Given the description of an element on the screen output the (x, y) to click on. 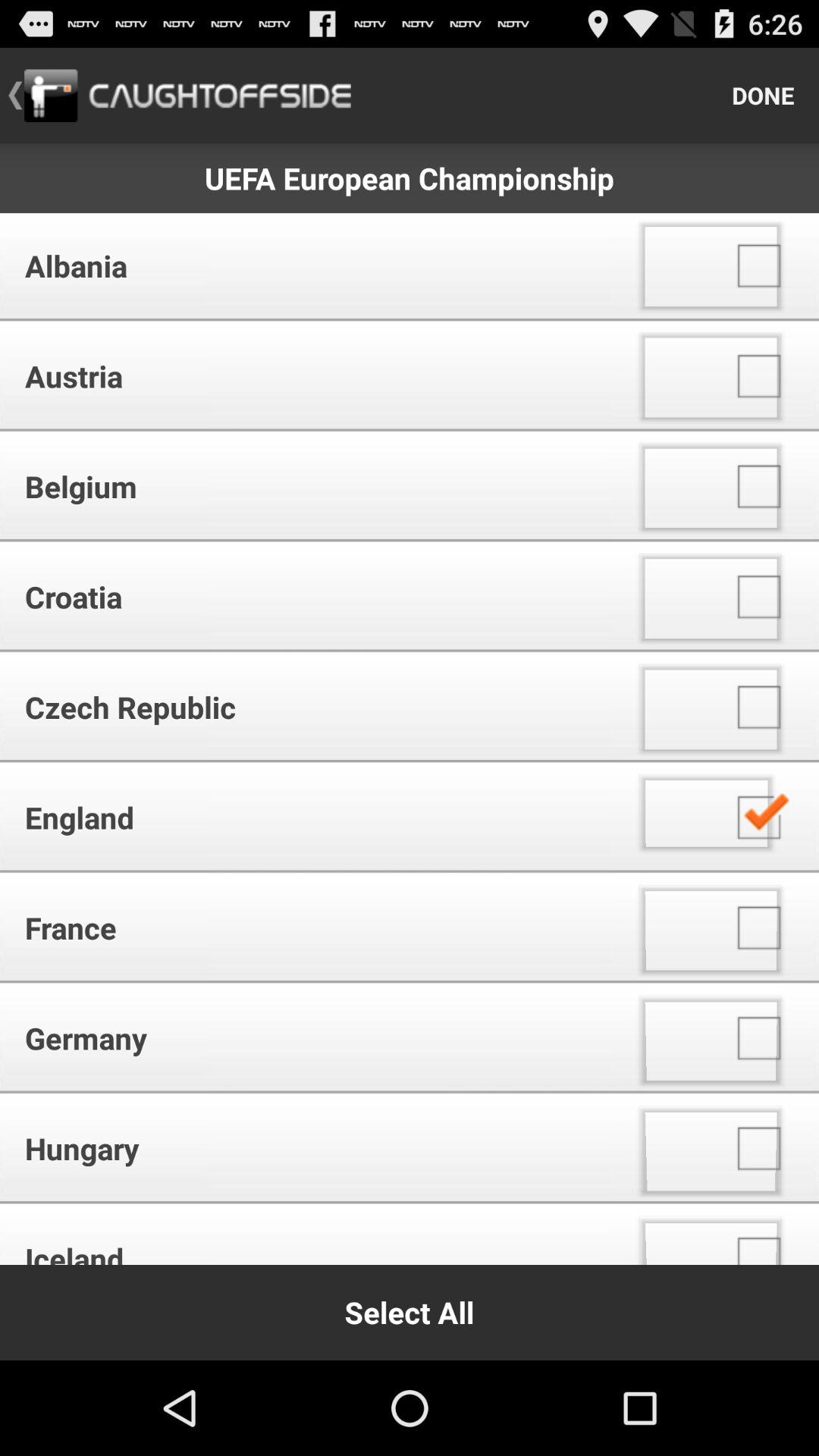
turn off the france app (311, 927)
